Given the description of an element on the screen output the (x, y) to click on. 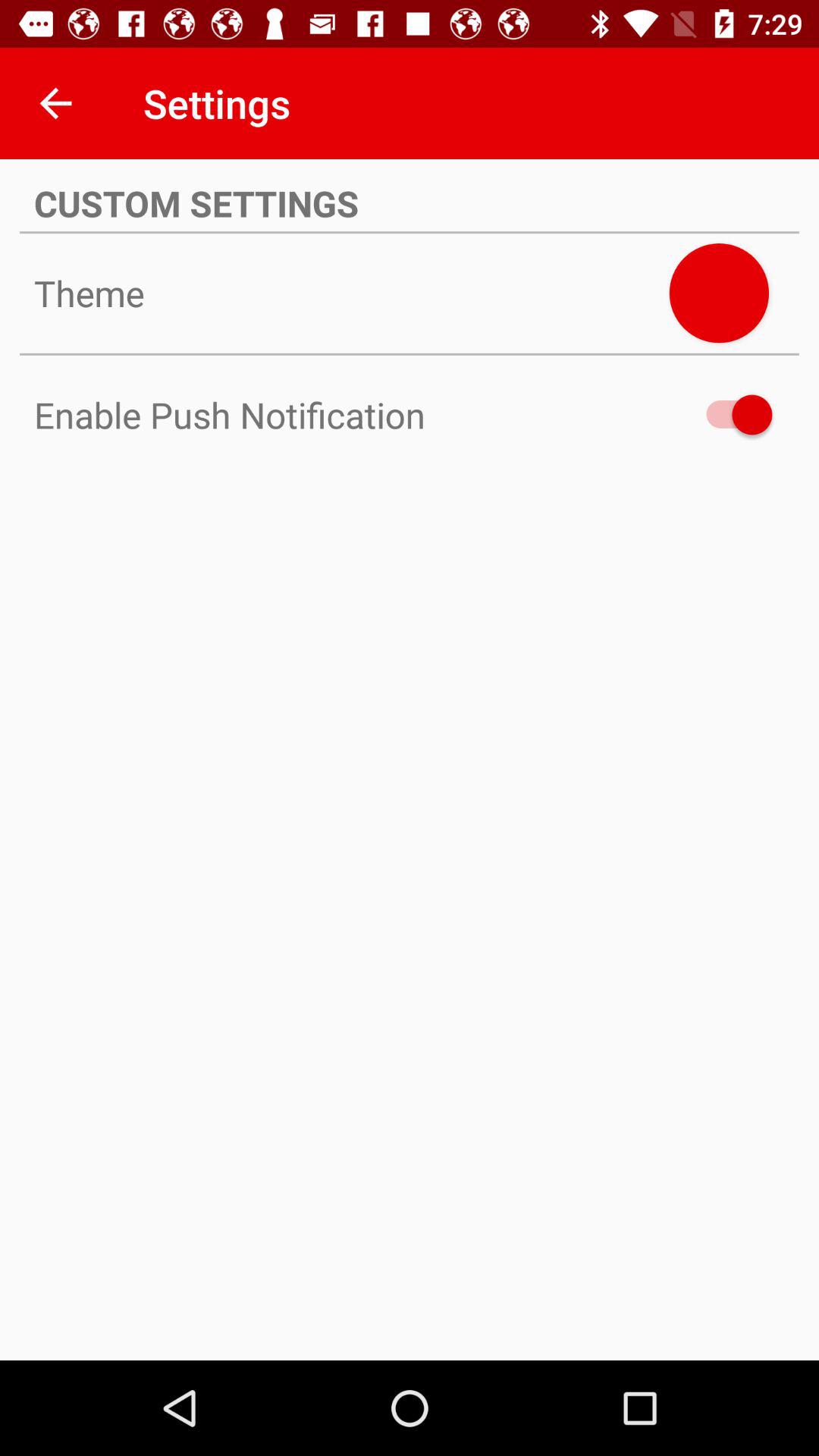
select theme option (718, 292)
